Given the description of an element on the screen output the (x, y) to click on. 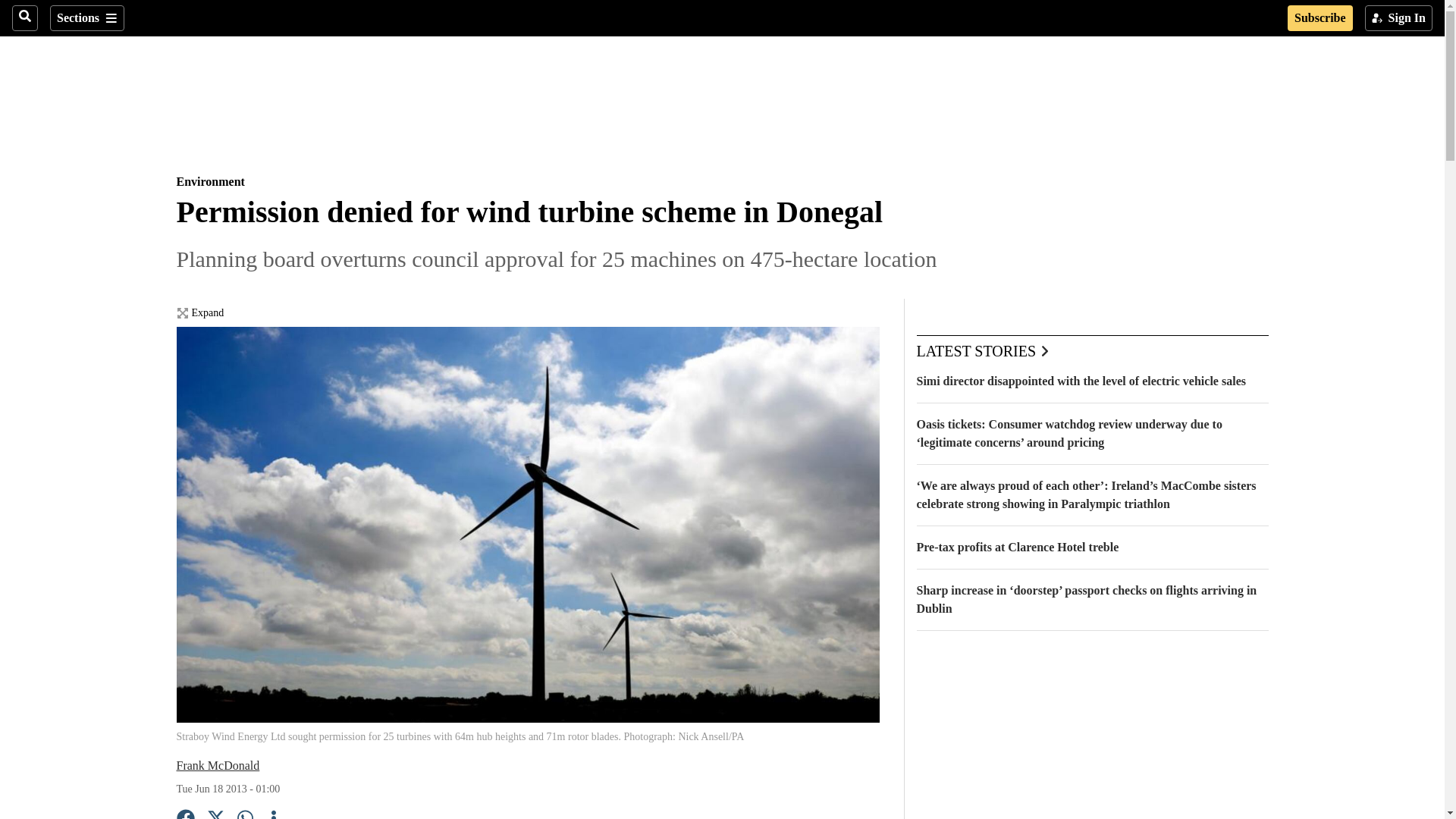
X (215, 814)
WhatsApp (244, 814)
Sign In (1398, 17)
Sections (86, 17)
Facebook (184, 814)
Subscribe (1319, 17)
